Given the description of an element on the screen output the (x, y) to click on. 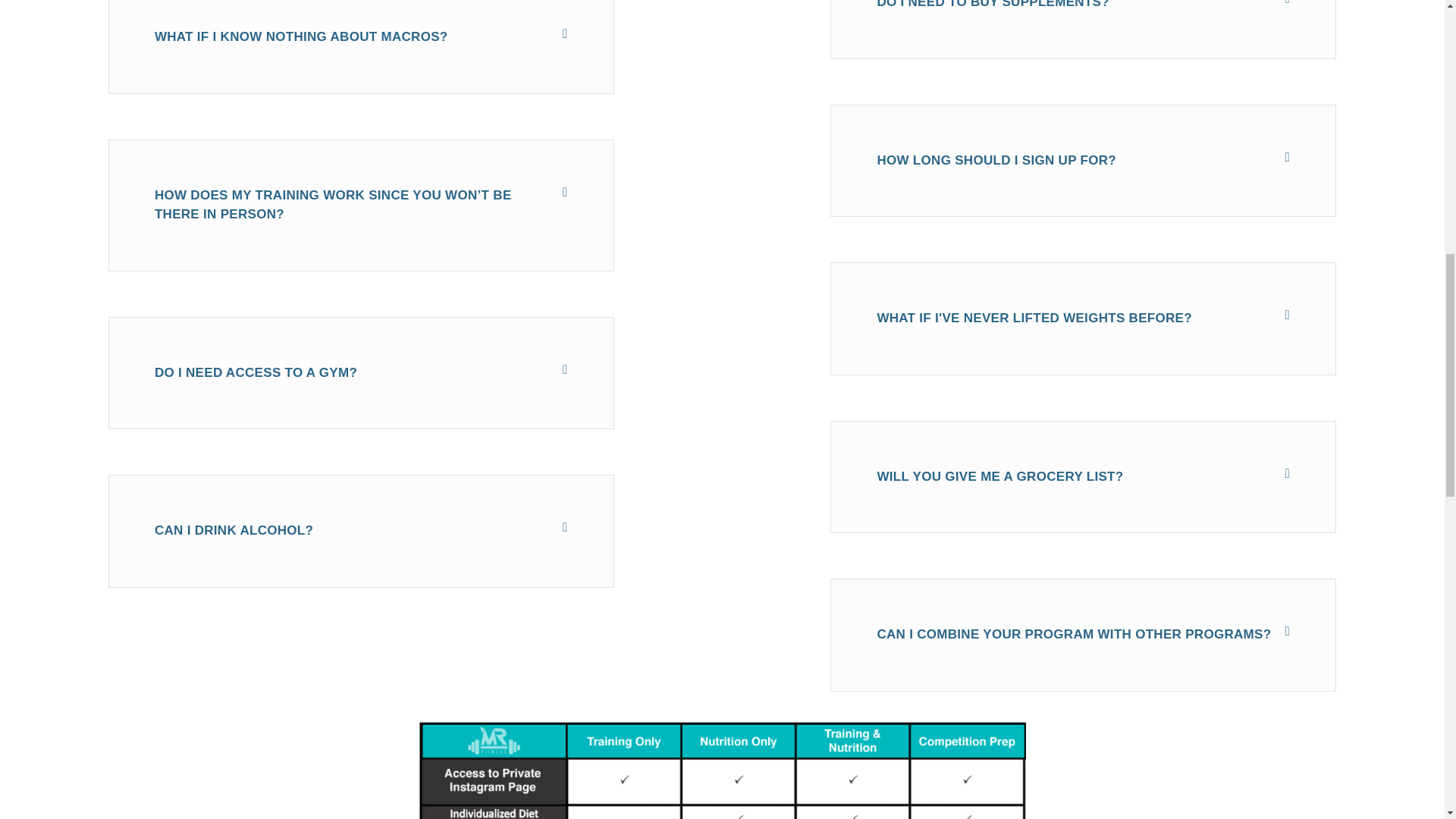
WHAT IF I KNOW NOTHING ABOUT MACROS? (301, 36)
WHAT IF I'VE NEVER LIFTED WEIGHTS BEFORE? (1034, 318)
WILL YOU GIVE ME A GROCERY LIST? (999, 476)
CAN I COMBINE YOUR PROGRAM WITH OTHER PROGRAMS? (1073, 634)
CAN I DRINK ALCOHOL? (233, 530)
DO I NEED ACCESS TO A GYM? (255, 372)
DO I NEED TO BUY SUPPLEMENTS? (992, 4)
HOW LONG SHOULD I SIGN UP FOR? (996, 160)
